Given the description of an element on the screen output the (x, y) to click on. 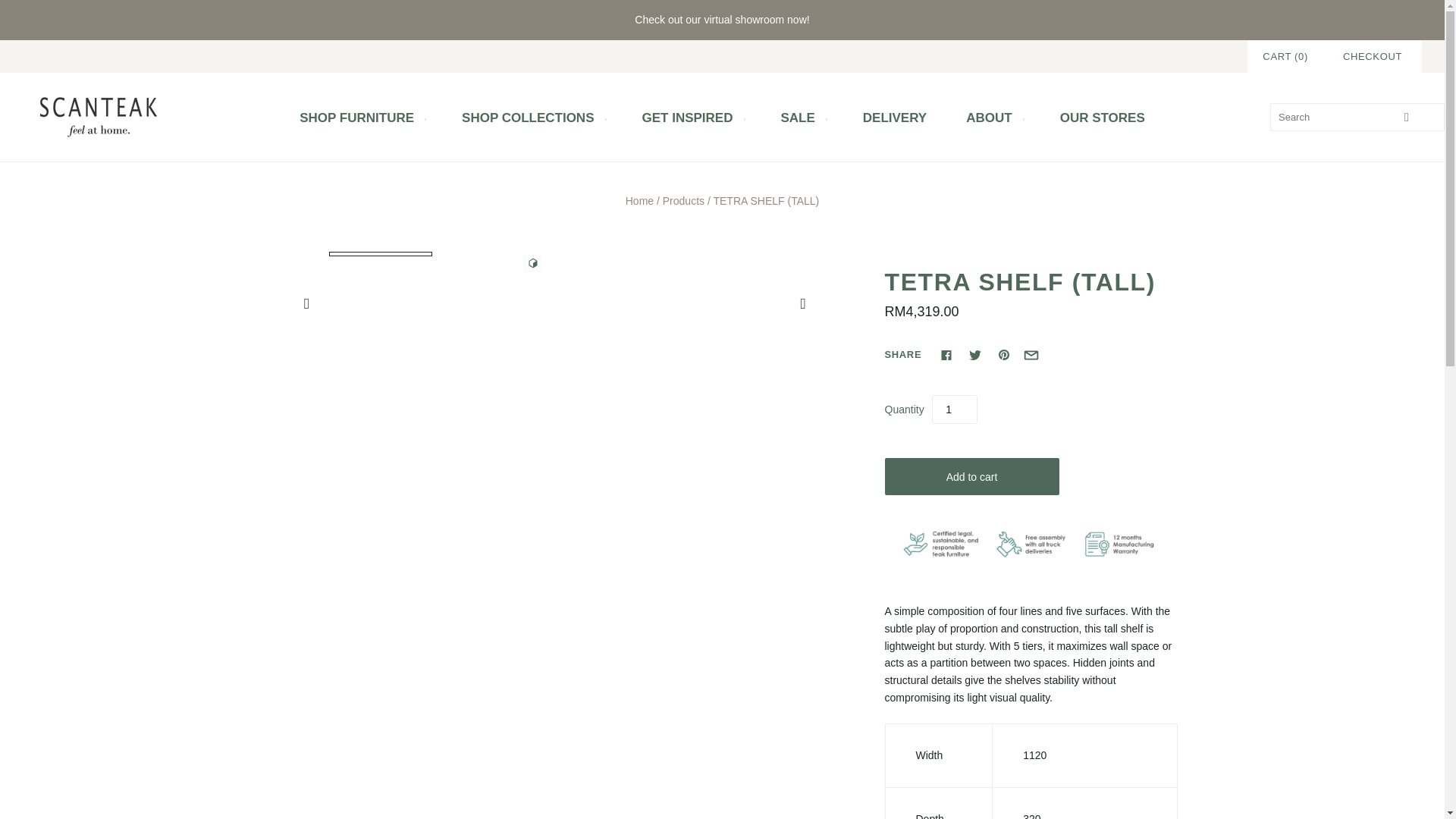
CHECKOUT (1372, 56)
Check out our virtual showroom now! (722, 20)
Add to cart (970, 476)
1 (953, 409)
DELIVERY (894, 117)
